Given the description of an element on the screen output the (x, y) to click on. 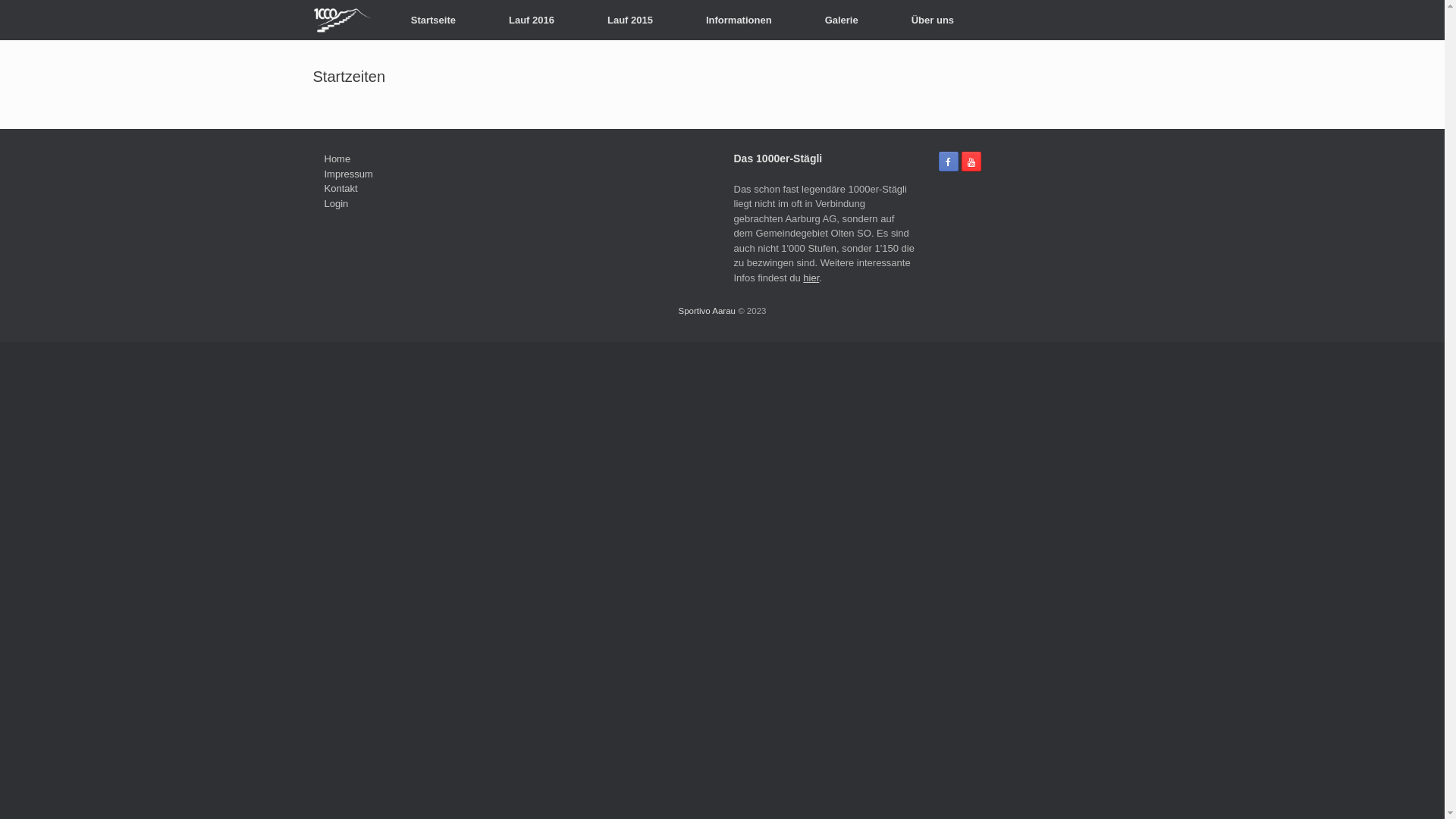
Galerie Element type: text (841, 20)
Informationen Element type: text (738, 20)
Kontakt Element type: text (340, 188)
Lauf 2015 Element type: text (629, 20)
hier Element type: text (811, 276)
Home Element type: text (337, 158)
Login Element type: text (336, 202)
Lauf 2016 Element type: text (531, 20)
Startseite Element type: text (433, 20)
Impressum Element type: text (348, 173)
Sportivo Aarau Element type: text (708, 310)
